Given the description of an element on the screen output the (x, y) to click on. 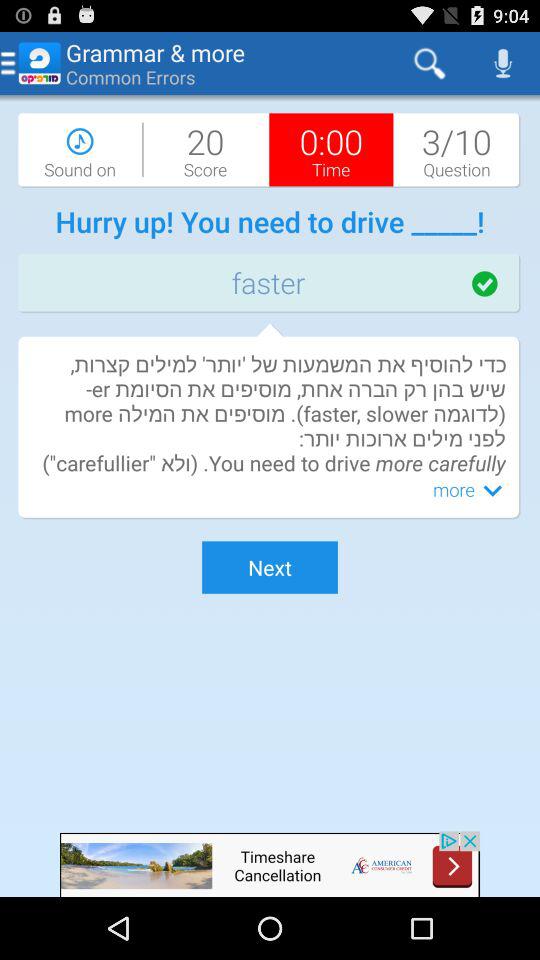
go to the advertised website (270, 864)
